Given the description of an element on the screen output the (x, y) to click on. 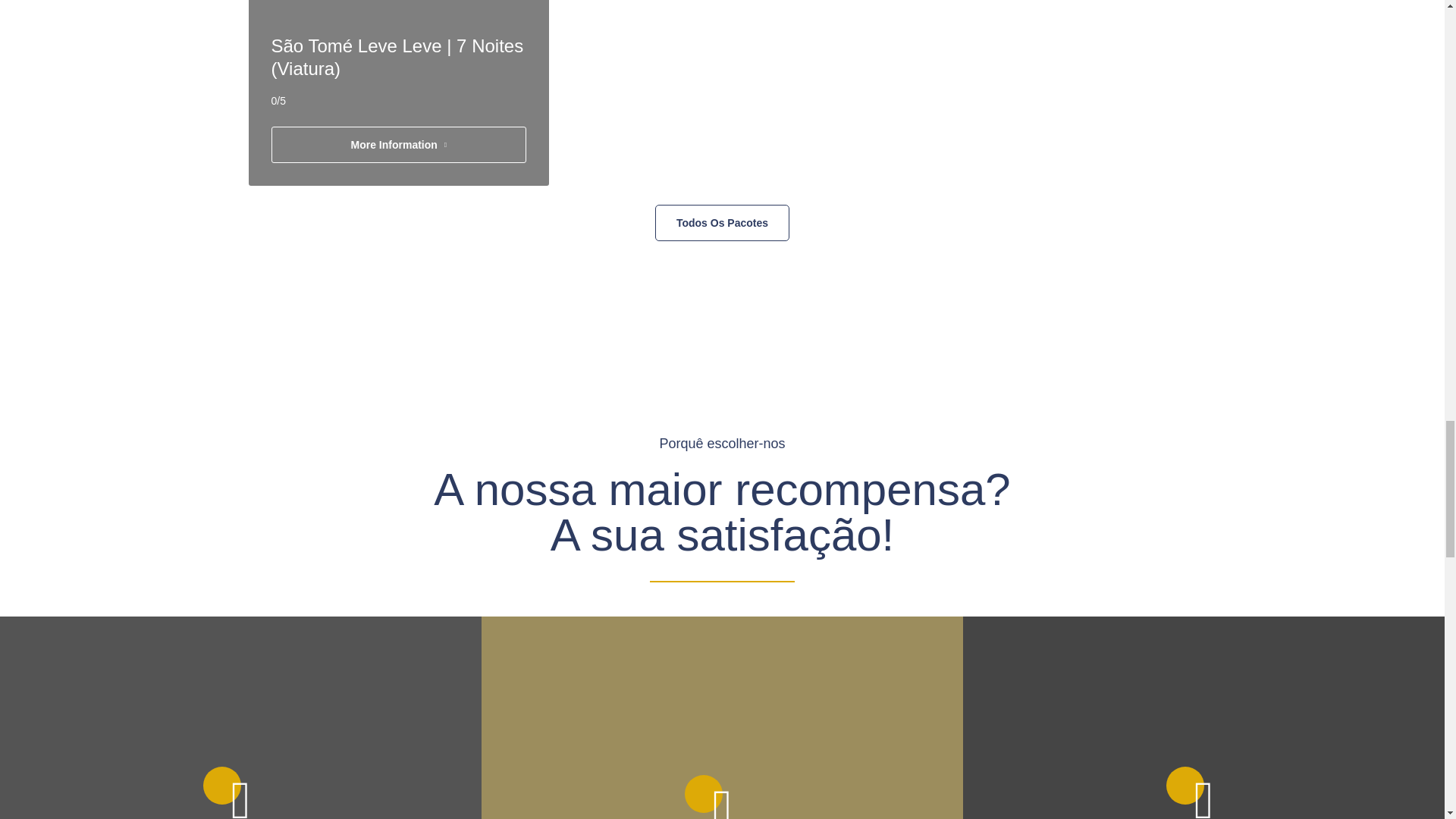
Todos Os Pacotes (722, 222)
More Information (398, 144)
